Given the description of an element on the screen output the (x, y) to click on. 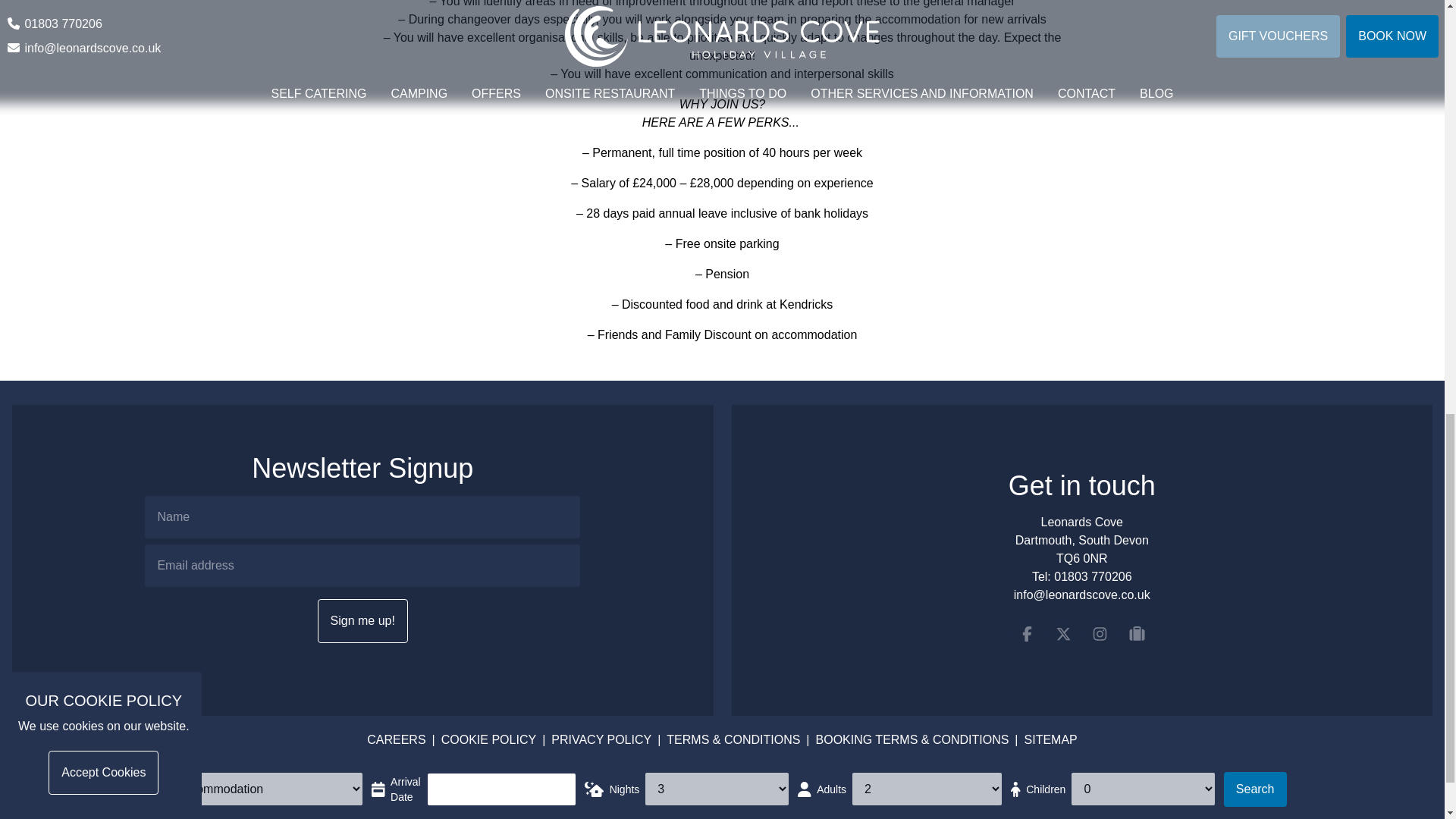
Email us (1081, 594)
Call us (1092, 576)
Clockwork Marketing (772, 787)
